Given the description of an element on the screen output the (x, y) to click on. 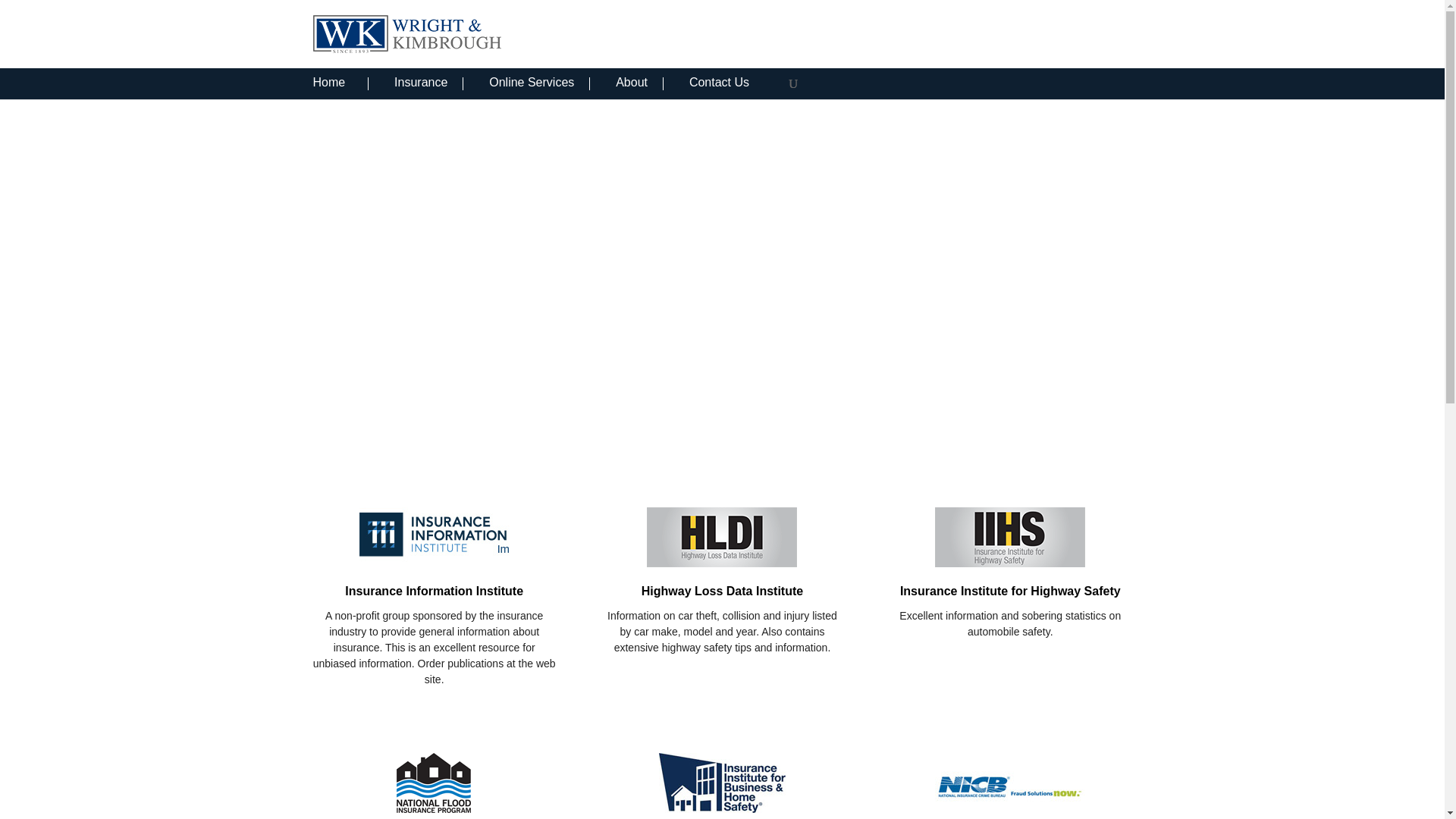
Home (340, 83)
Online Services (539, 83)
Insurance (428, 83)
About (639, 83)
Contact Us (729, 83)
